Given the description of an element on the screen output the (x, y) to click on. 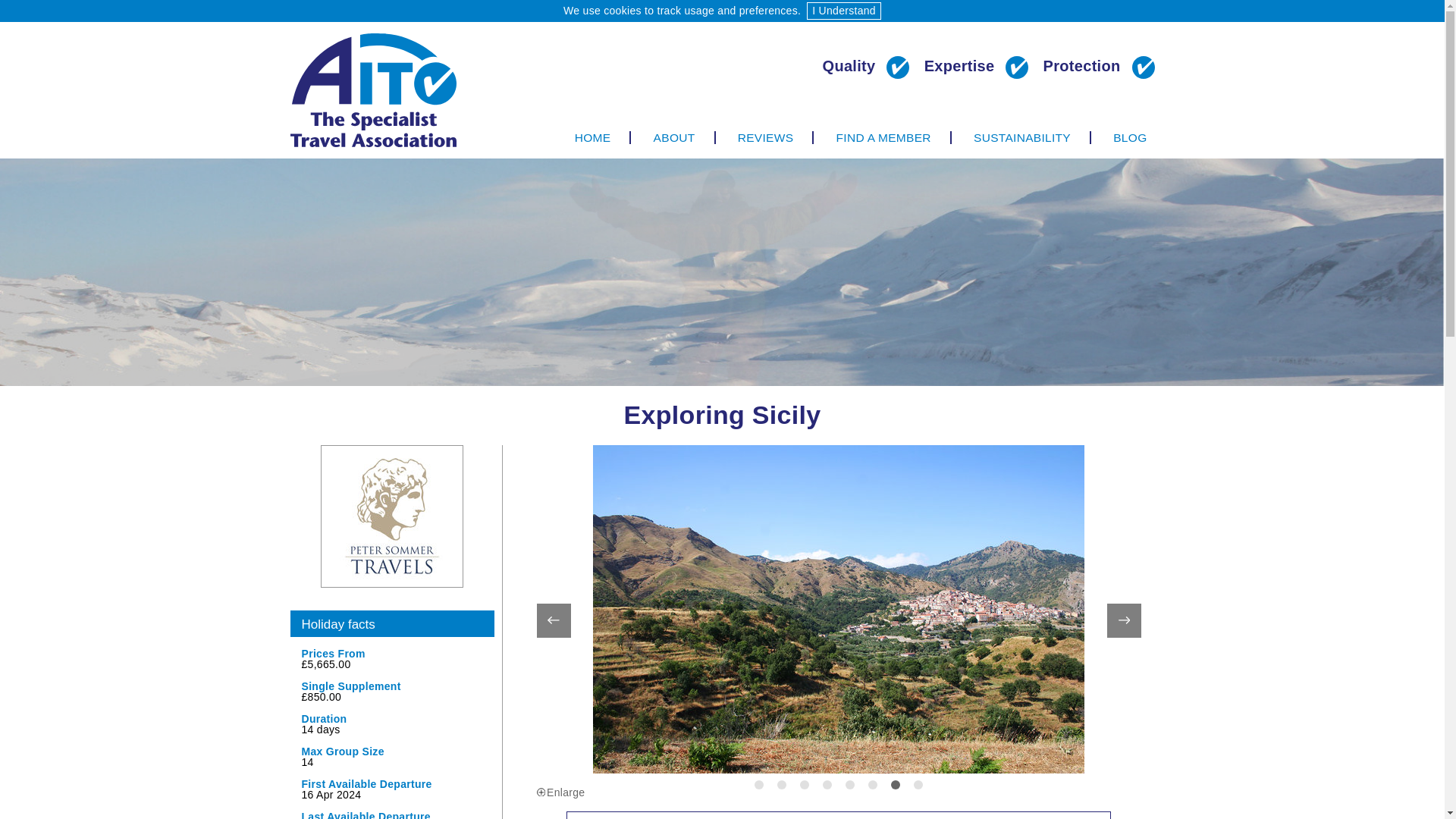
Home (593, 137)
AITO: The Association of Independent Tour Operators (373, 89)
5 (849, 784)
FIND A MEMBER (884, 137)
ABOUT (675, 137)
Sustainability (1022, 137)
I Understand (843, 10)
Find a member (884, 137)
7 (895, 784)
BLOG (1120, 137)
HOME (593, 137)
2 (781, 784)
Sicily tour (838, 815)
1 (759, 784)
About (675, 137)
